Given the description of an element on the screen output the (x, y) to click on. 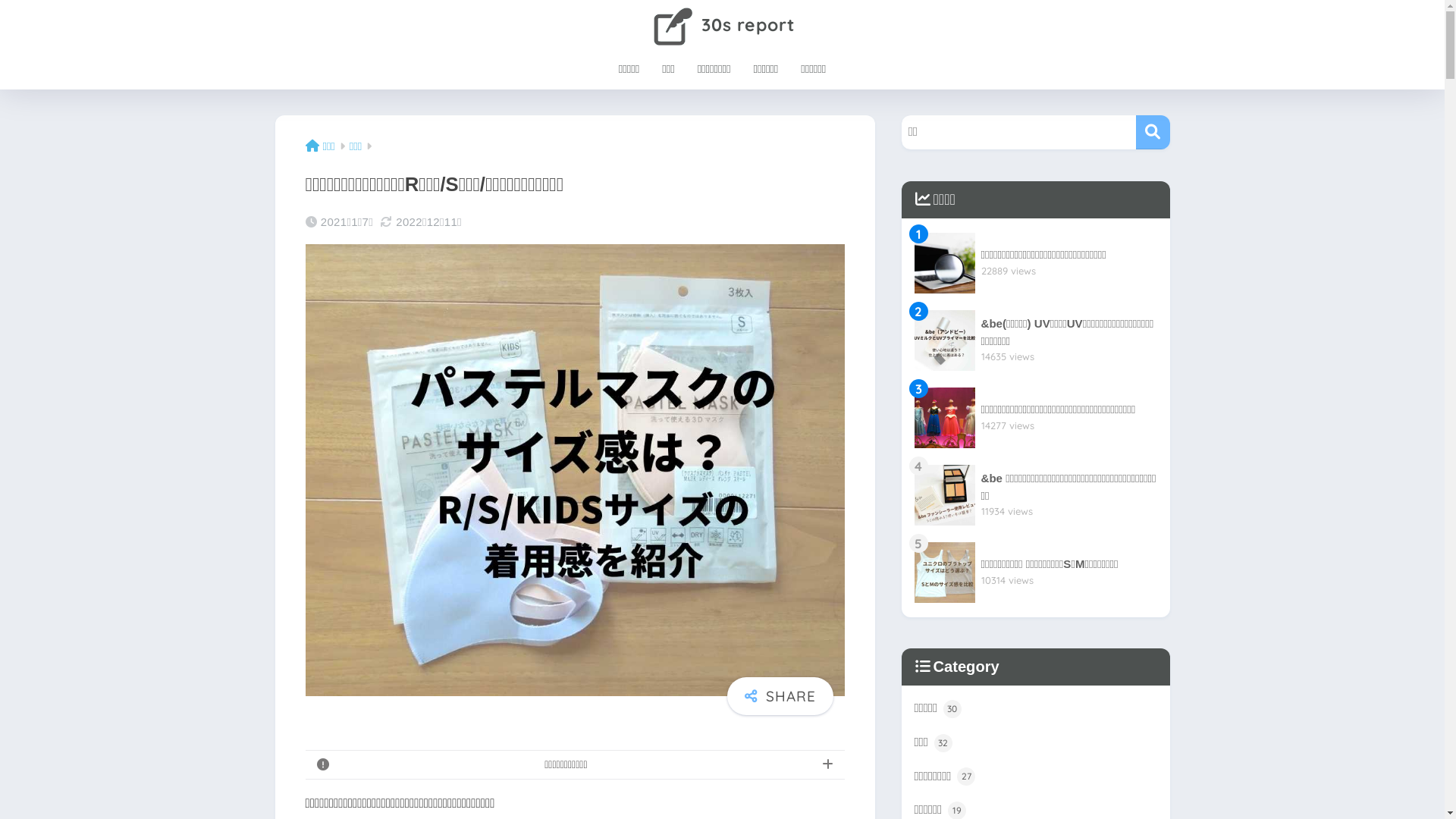
on Element type: text (4, 4)
30s report Element type: text (721, 24)
